Given the description of an element on the screen output the (x, y) to click on. 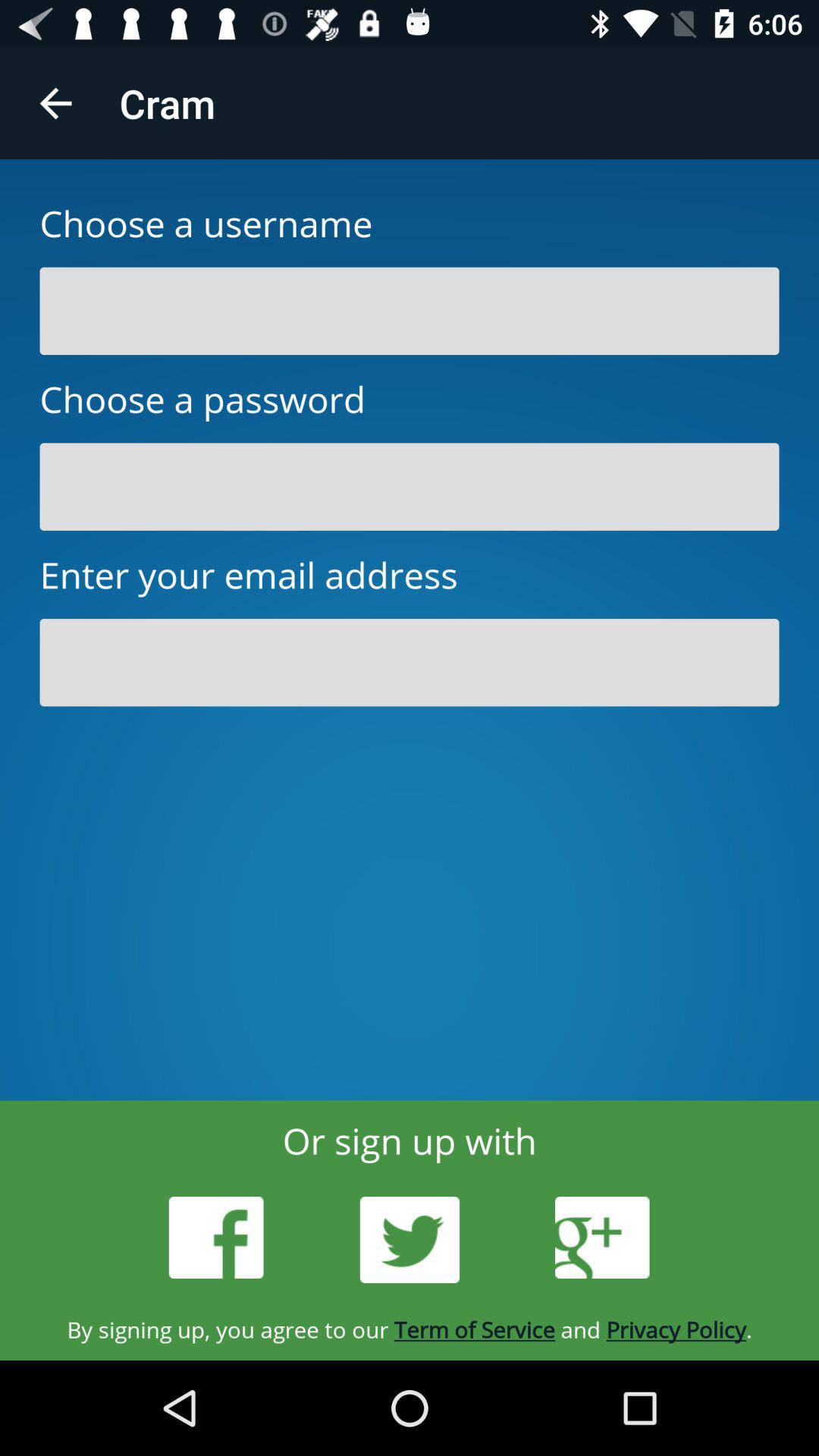
turn off item next to the cram icon (55, 103)
